Given the description of an element on the screen output the (x, y) to click on. 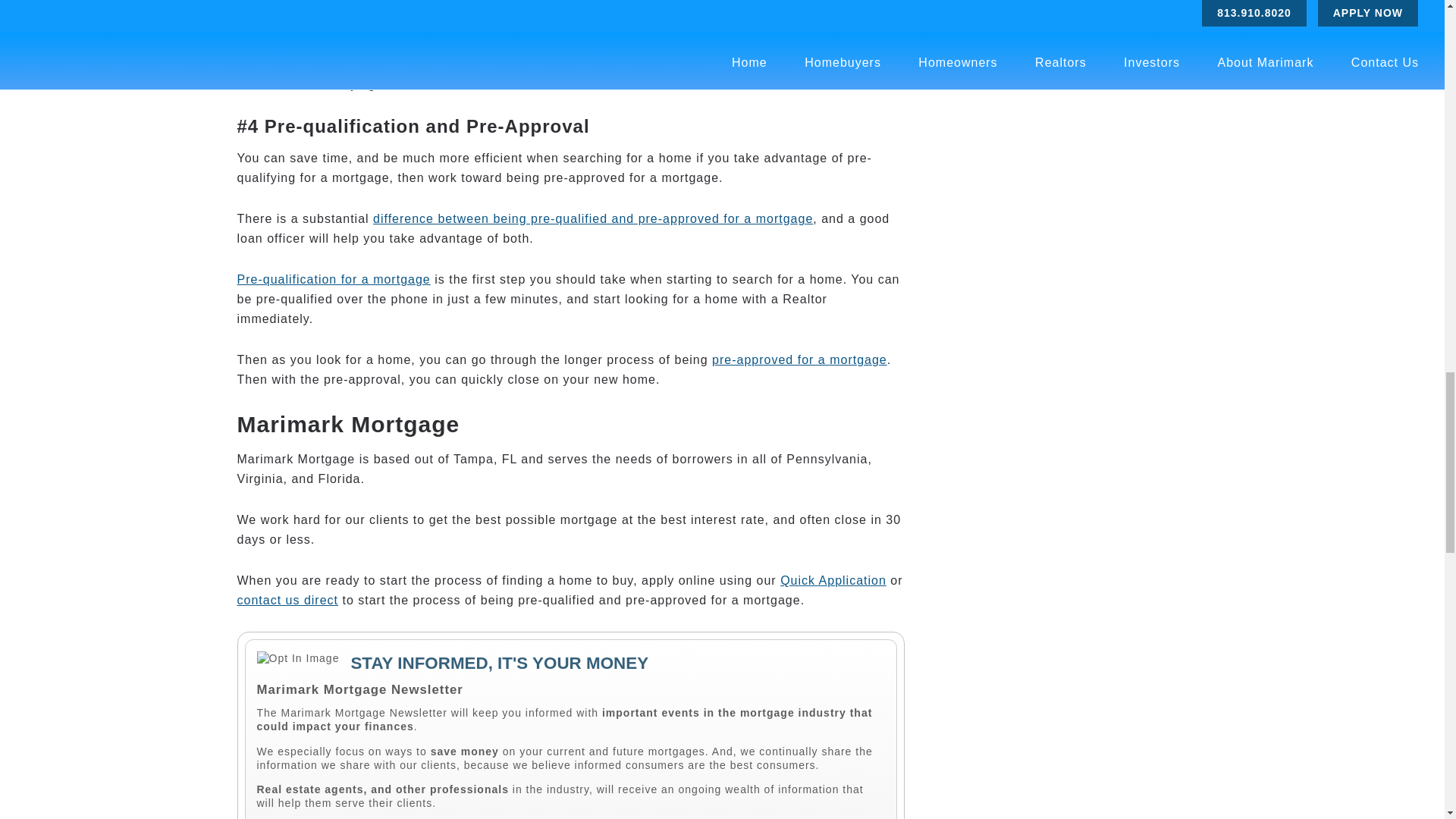
pre-approved for a mortgage (798, 359)
Quick Application (833, 580)
Pre-qualification for a mortgage (332, 278)
